Given the description of an element on the screen output the (x, y) to click on. 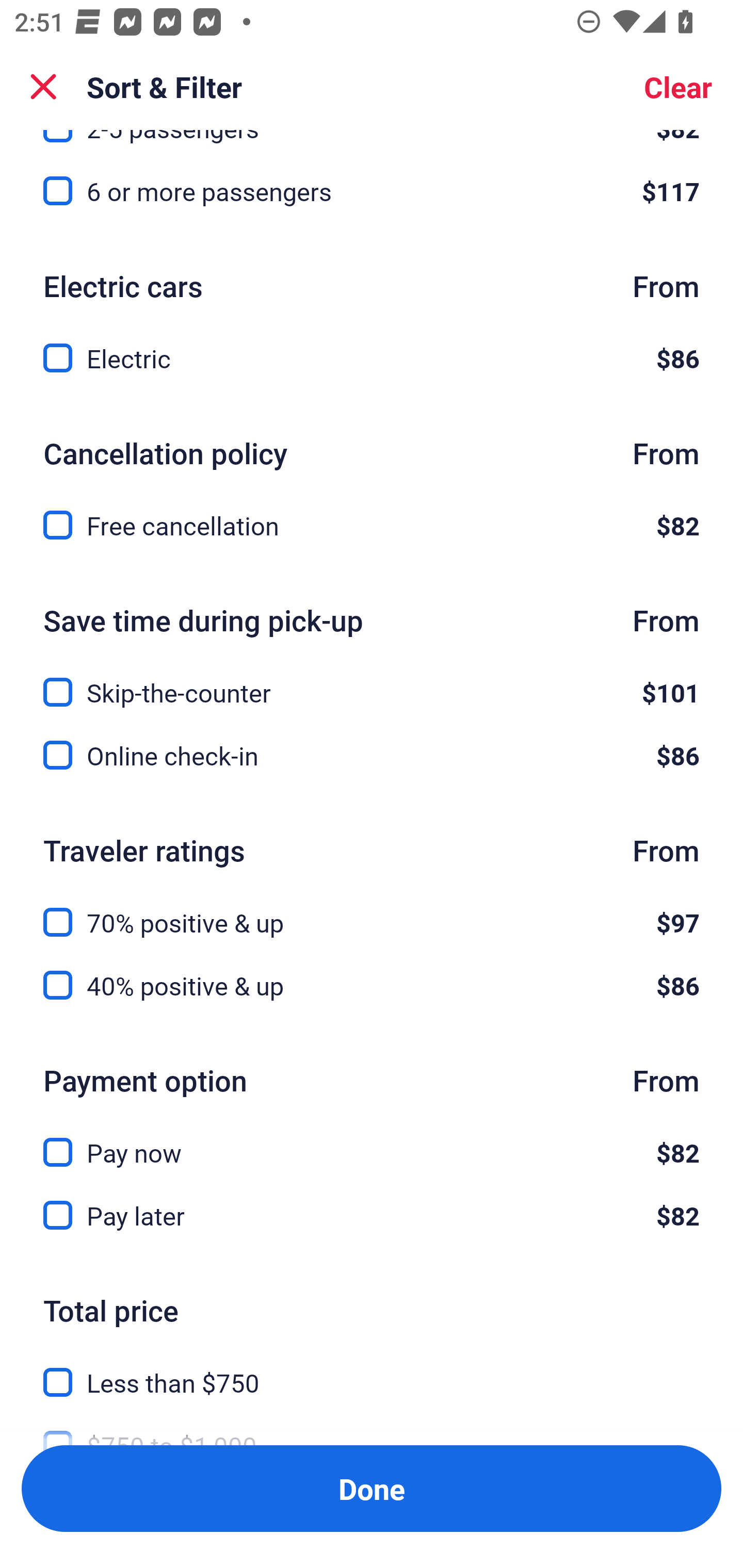
Close Sort and Filter (43, 86)
Clear (677, 86)
Electric, $86 Electric $86 (371, 358)
Free cancellation, $82 Free cancellation $82 (371, 525)
Skip-the-counter, $101 Skip-the-counter $101 (371, 680)
Online check-in, $86 Online check-in $86 (371, 755)
70% positive & up, $97 70% positive & up $97 (371, 910)
40% positive & up, $86 40% positive & up $86 (371, 985)
Pay now, $82 Pay now $82 (371, 1141)
Pay later, $82 Pay later $82 (371, 1215)
Less than $750, Less than $750 (371, 1370)
Apply and close Sort and Filter Done (371, 1488)
